Given the description of an element on the screen output the (x, y) to click on. 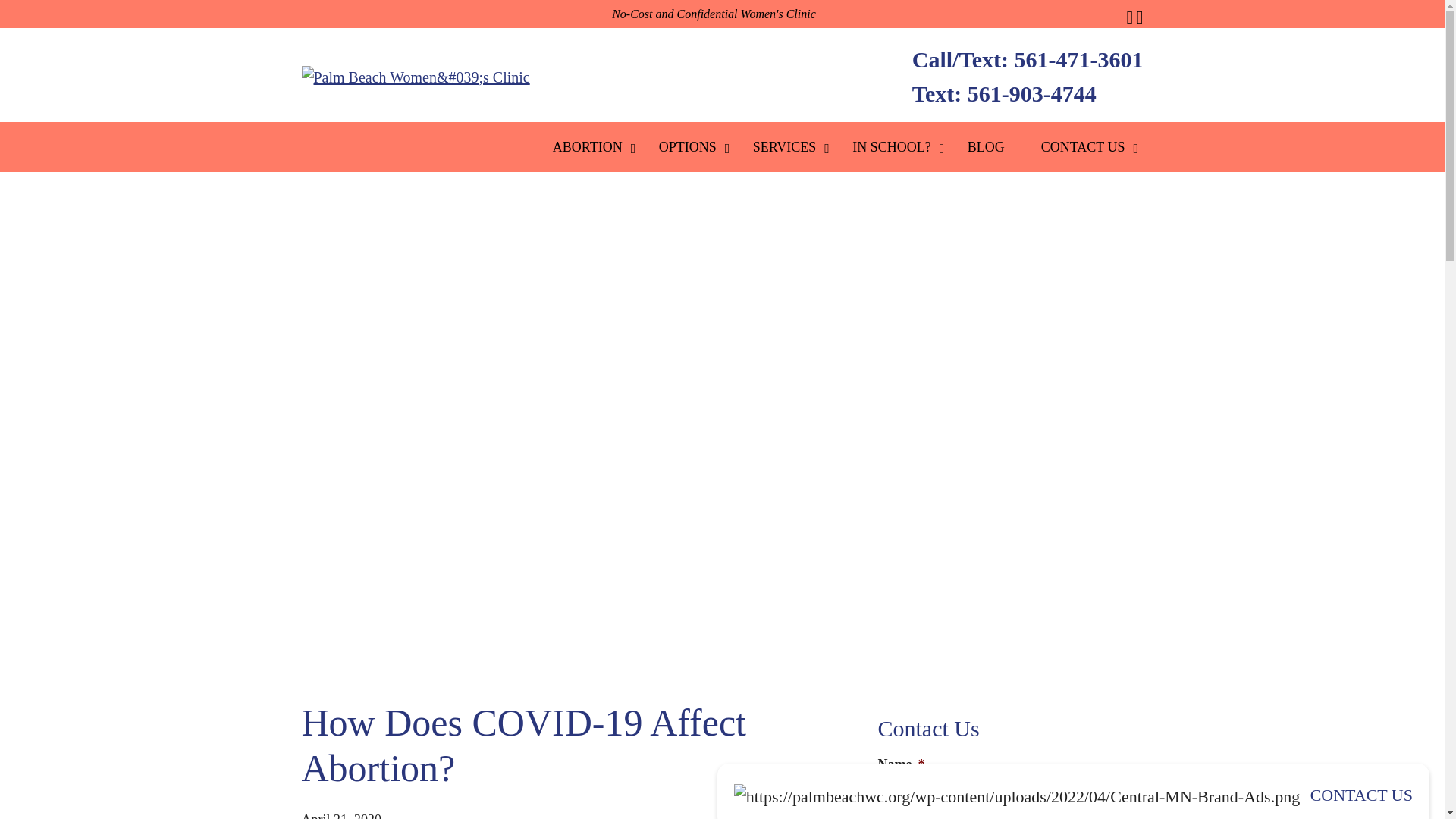
CONTACT US (1082, 146)
Options (687, 146)
Blog (986, 146)
Abortion (587, 146)
IN SCHOOL? (891, 146)
ABORTION (587, 146)
SERVICES (784, 146)
561-903-4744 (1032, 93)
561-471-3601 (1078, 59)
OPTIONS (687, 146)
